Given the description of an element on the screen output the (x, y) to click on. 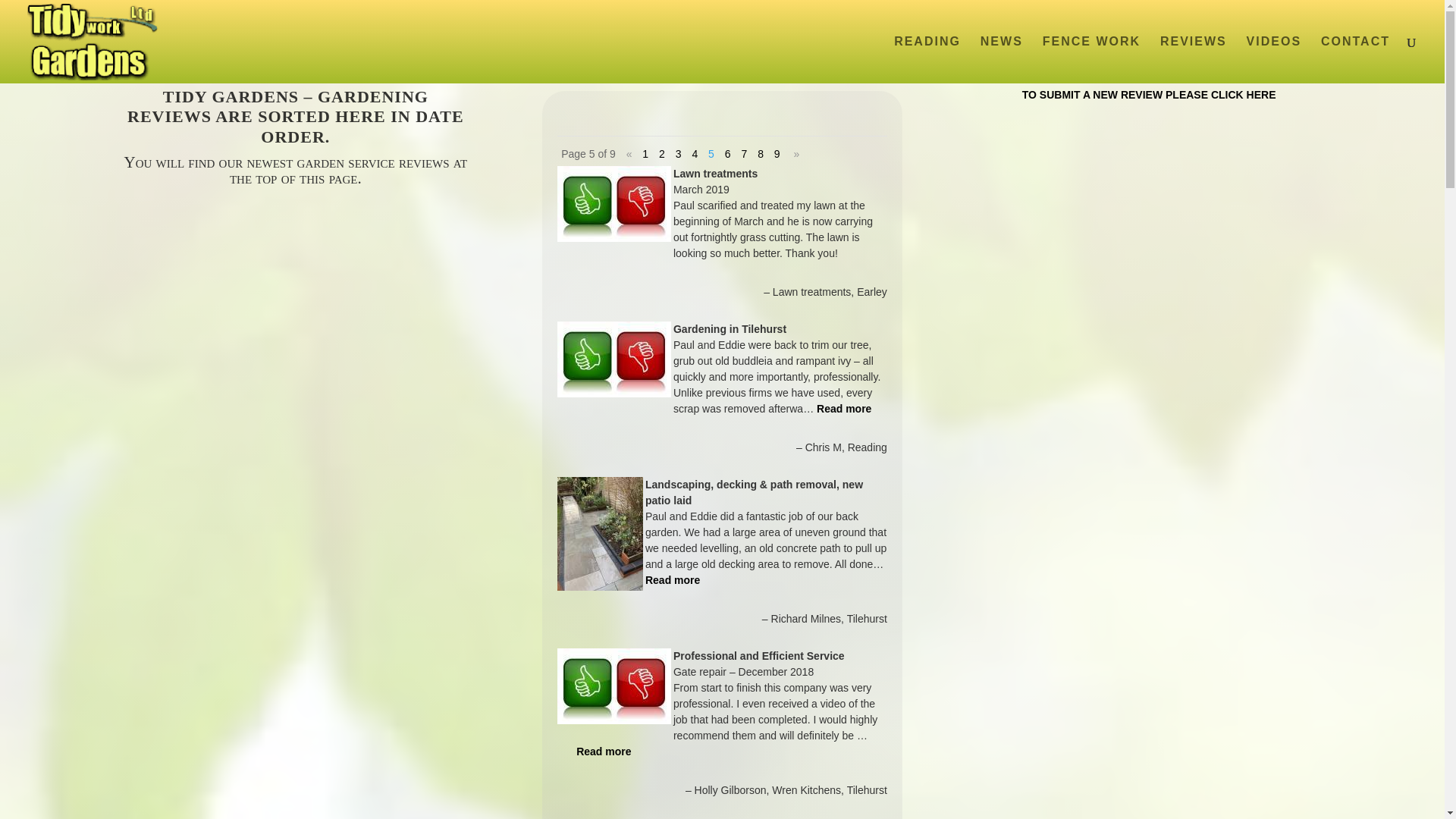
FENCE WORK (1091, 59)
CONTACT (1355, 59)
gardening company news (1001, 59)
Complete testimonial by Chris M (843, 408)
Complete testimonial by Holly Gilborson (603, 751)
Read more (603, 751)
gardening company reviews (1193, 59)
Read more (843, 408)
REVIEWS (1193, 59)
gardening videos by Tidy Gardens (1273, 59)
